Given the description of an element on the screen output the (x, y) to click on. 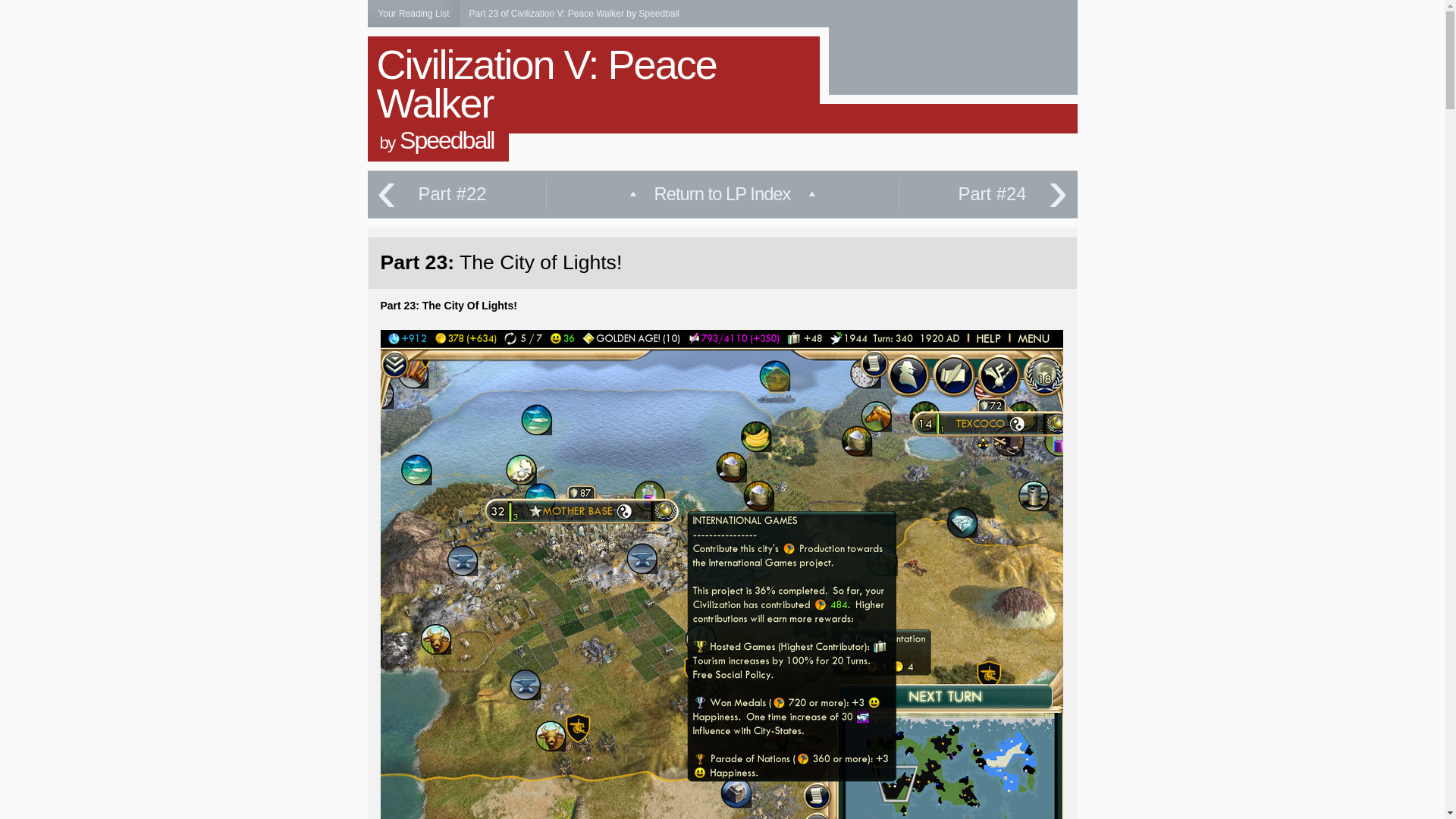
Click to expand and view your full reading list (413, 13)
Part 23 of Civilization V: Peace Walker by Speedball (573, 13)
Civilization V: Peace Walker (545, 83)
Speedball (445, 139)
